Given the description of an element on the screen output the (x, y) to click on. 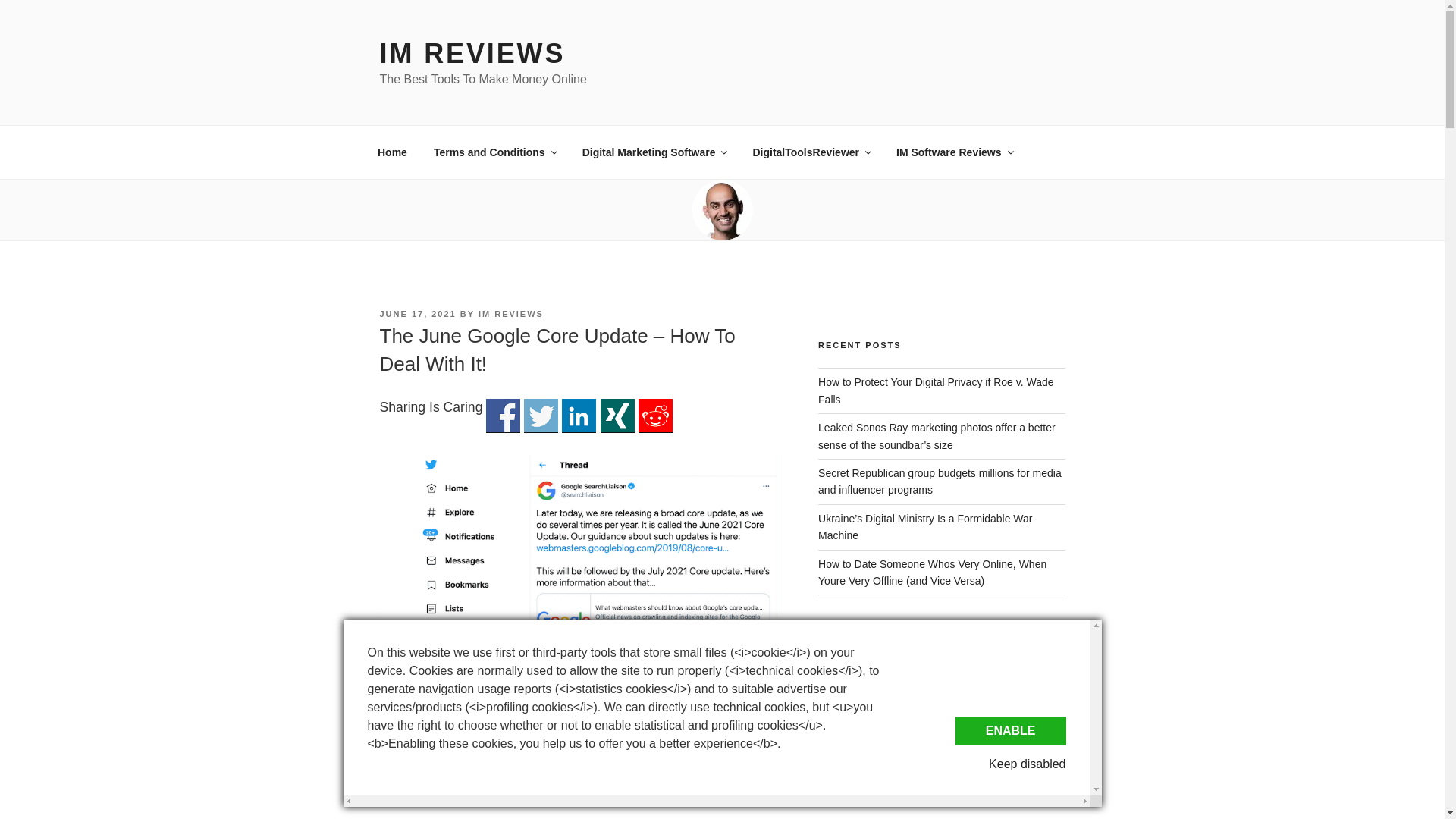
Terms and Conditions (494, 151)
Home (392, 151)
JUNE 17, 2021 (416, 313)
Share on Twitter (540, 415)
Share on Linkedin (578, 415)
Share on Reddit (655, 415)
IM REVIEWS (471, 52)
IM REVIEWS (511, 313)
DigitalToolsReviewer (811, 151)
IM Software Reviews (954, 151)
Digital Marketing Software (654, 151)
Share on Facebook (502, 415)
Share on Xing (616, 415)
